Given the description of an element on the screen output the (x, y) to click on. 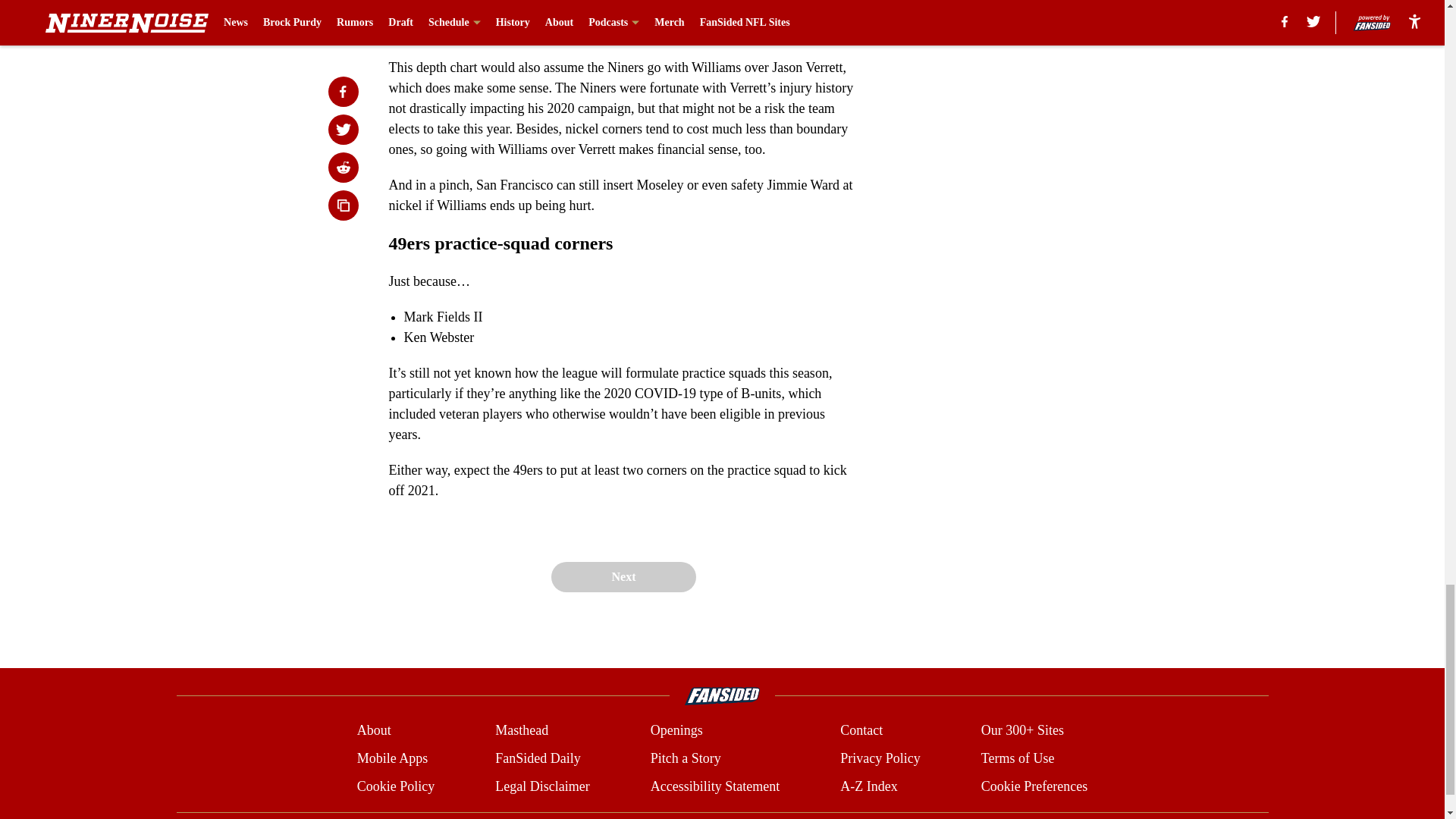
About (373, 730)
Openings (676, 730)
Pitch a Story (685, 758)
Next (622, 576)
Privacy Policy (880, 758)
Mobile Apps (392, 758)
FanSided Daily (537, 758)
Masthead (521, 730)
Terms of Use (1017, 758)
Contact (861, 730)
